Given the description of an element on the screen output the (x, y) to click on. 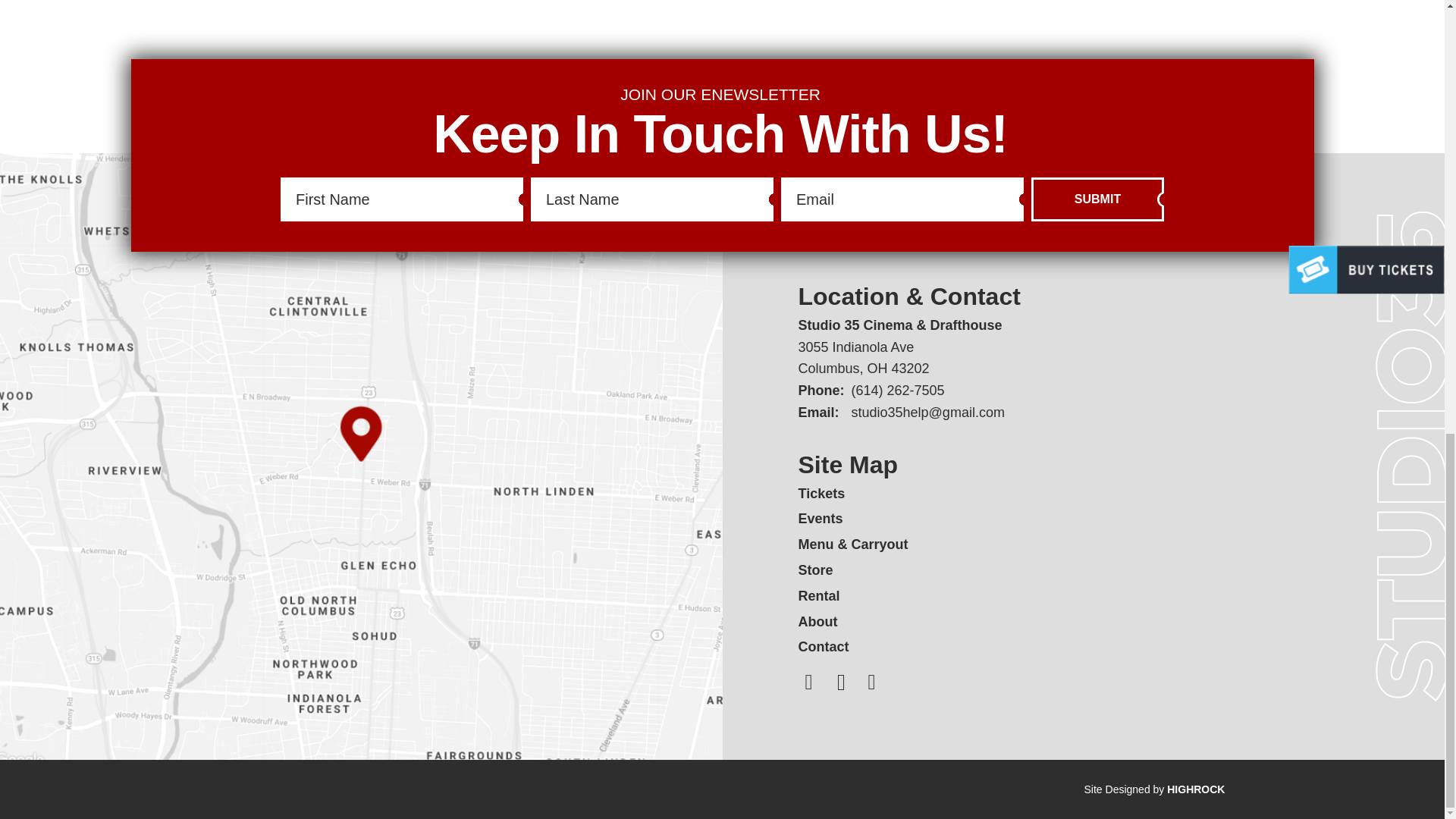
Contact (822, 646)
Submit (1096, 199)
Rental (818, 595)
Submit (1096, 199)
About (817, 621)
Instagram (807, 681)
Store (814, 570)
Twitter (841, 681)
Events (820, 518)
Tickets (820, 493)
